Given the description of an element on the screen output the (x, y) to click on. 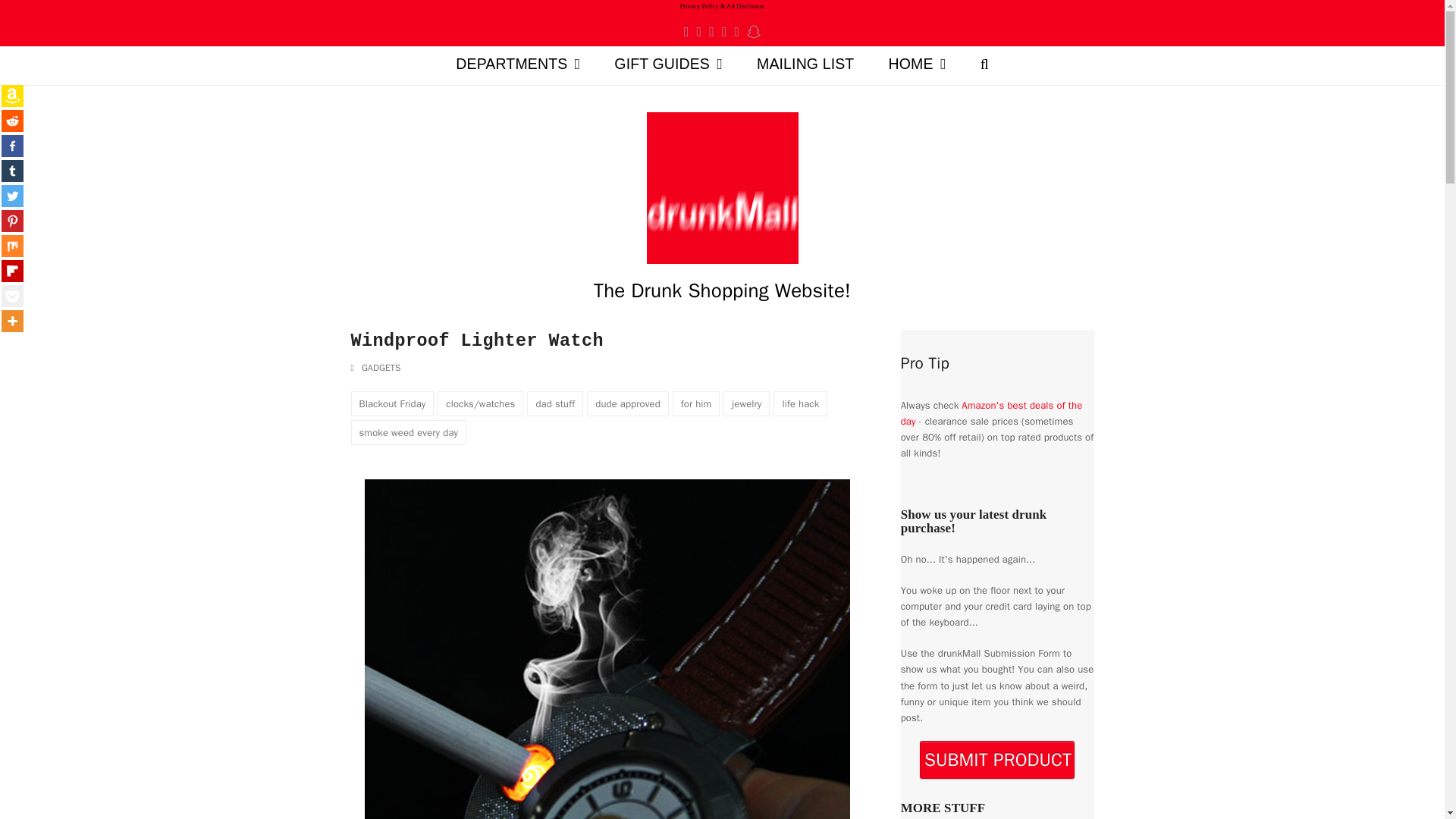
DEPARTMENTS (518, 65)
GIFT GUIDES (668, 65)
MAILING LIST (805, 65)
HOME (916, 65)
